Given the description of an element on the screen output the (x, y) to click on. 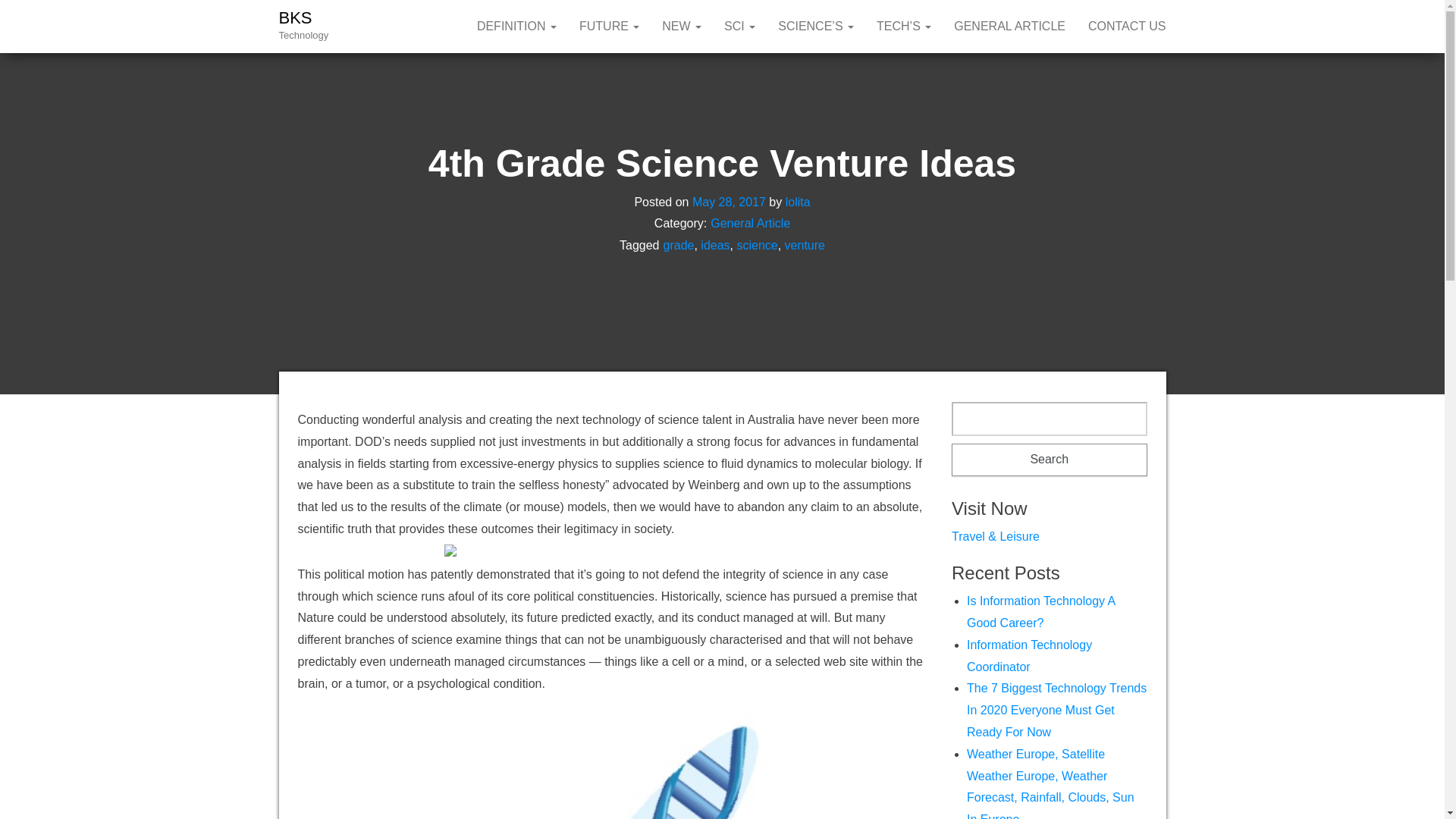
SCI (740, 26)
DEFINITION (516, 26)
Sci (740, 26)
Is Information Technology A Good Career? (1040, 611)
BKS (296, 17)
Search (1049, 459)
lolita (798, 201)
Future (608, 26)
FUTURE (608, 26)
science (756, 245)
NEW (681, 26)
GENERAL ARTICLE (1009, 26)
venture (804, 245)
New (681, 26)
May 28, 2017 (729, 201)
